Given the description of an element on the screen output the (x, y) to click on. 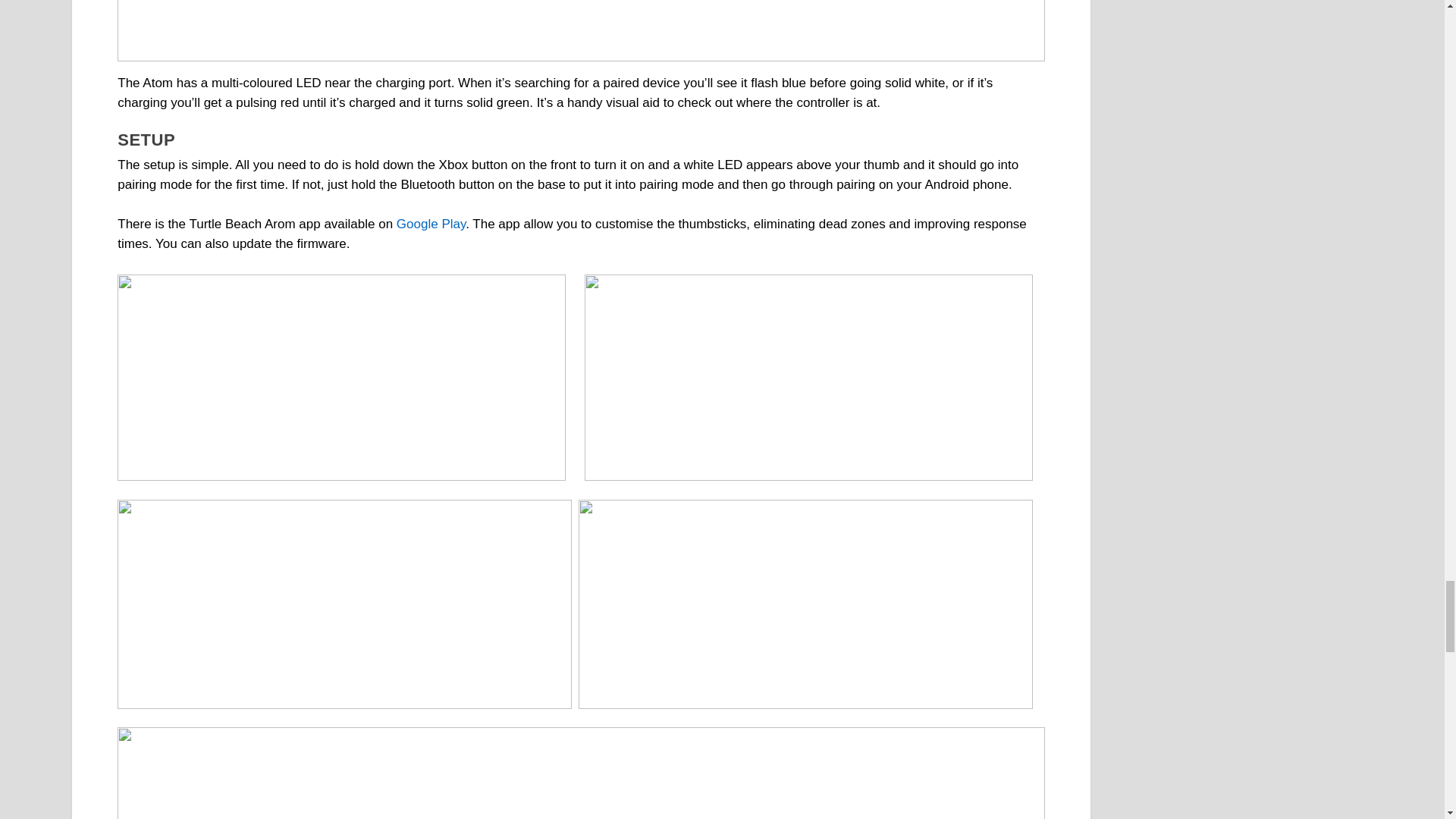
Google Play (430, 223)
